Given the description of an element on the screen output the (x, y) to click on. 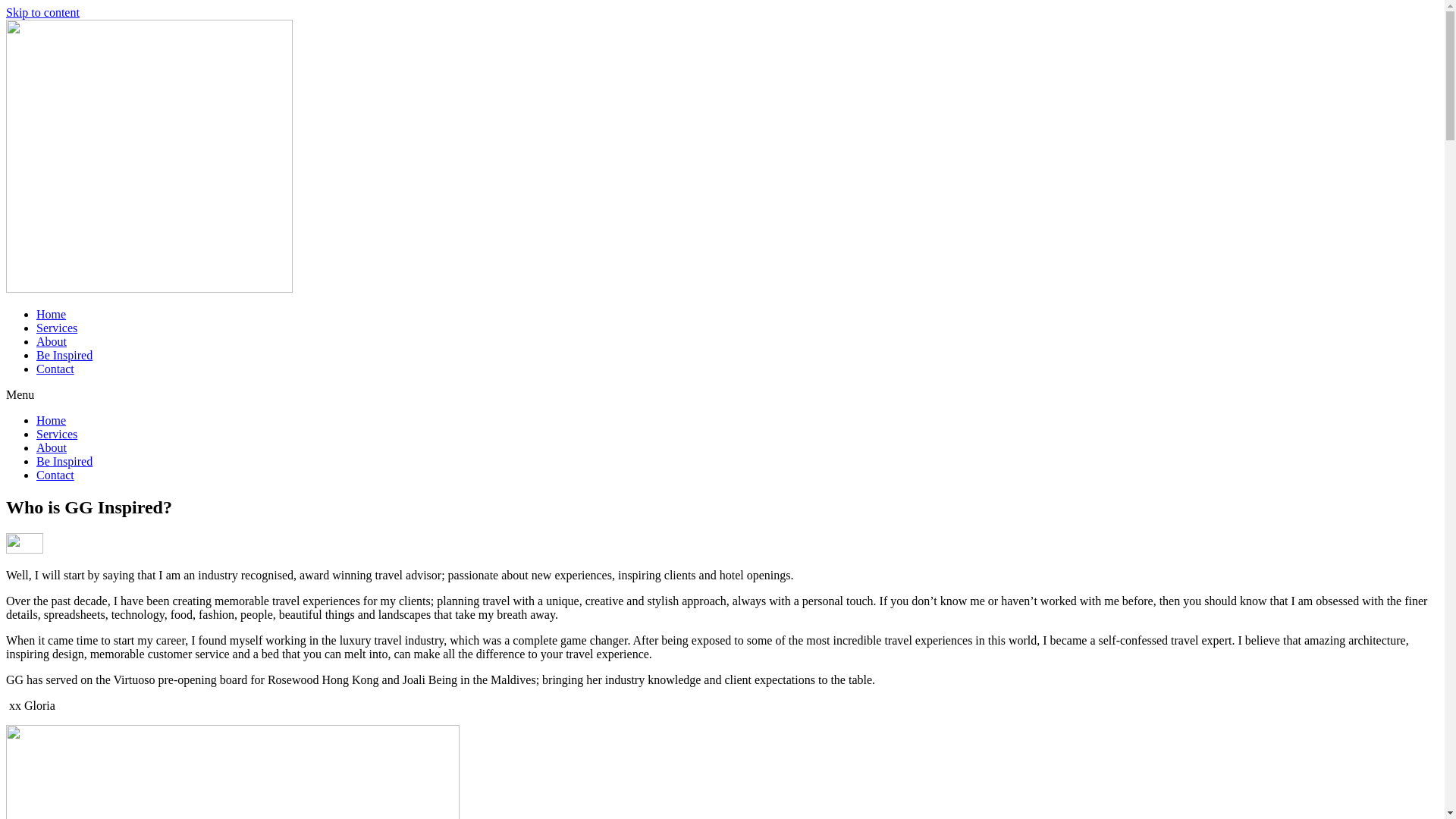
Home Element type: text (50, 420)
Services Element type: text (56, 433)
Be Inspired Element type: text (64, 461)
Home Element type: text (50, 313)
Services Element type: text (56, 327)
About Element type: text (51, 447)
Be Inspired Element type: text (64, 354)
Skip to content Element type: text (42, 12)
Contact Element type: text (55, 474)
Contact Element type: text (55, 368)
About Element type: text (51, 341)
